Given the description of an element on the screen output the (x, y) to click on. 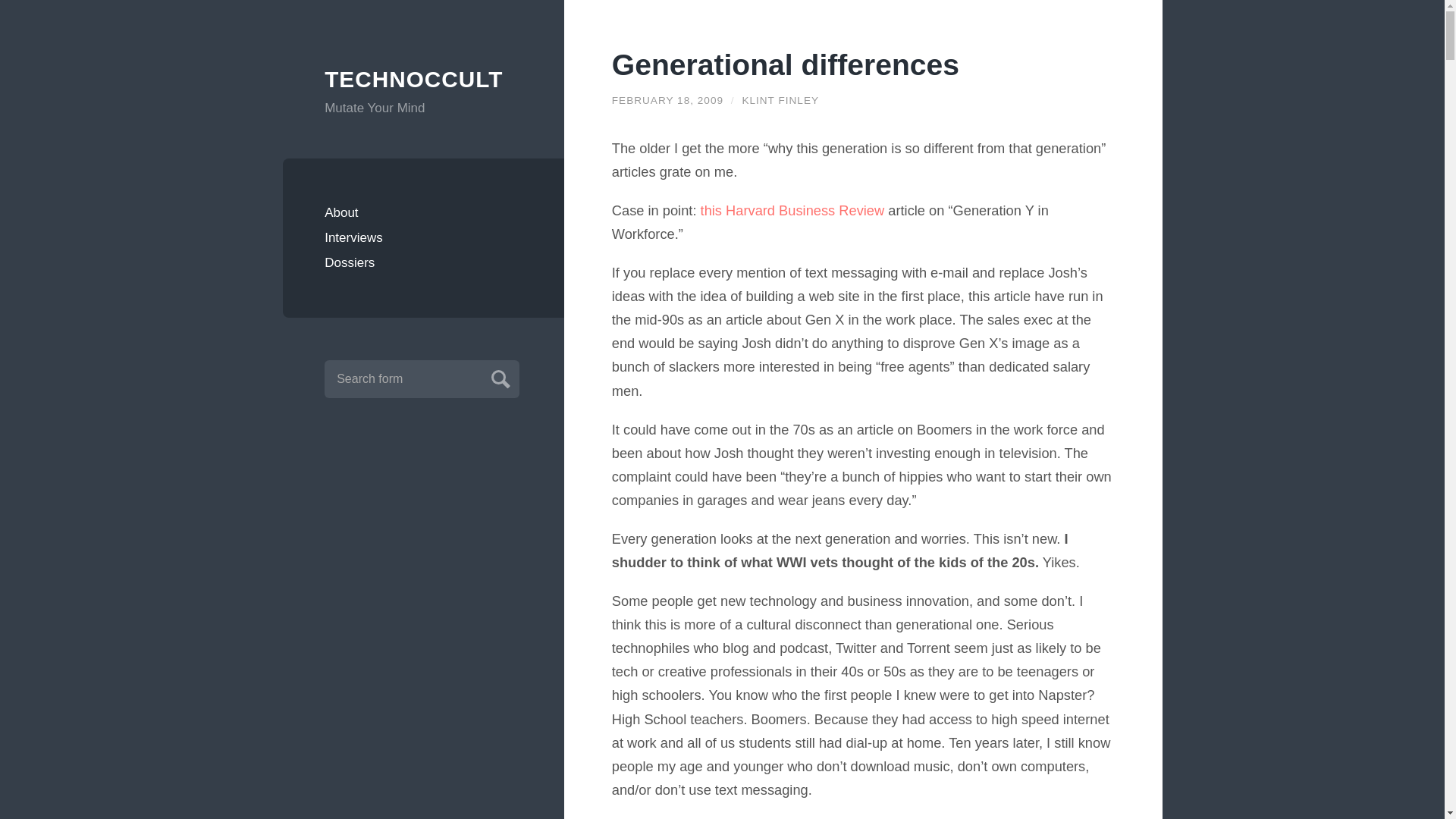
Generational differences (785, 64)
this Harvard Business Review (792, 210)
About (422, 212)
Interviews (422, 237)
Search (498, 377)
KLINT FINLEY (779, 100)
Generational differences (667, 100)
Submit (498, 377)
FEBRUARY 18, 2009 (667, 100)
Generational differences (785, 64)
TECHNOCCULT (422, 79)
Posts by Klint Finley (779, 100)
Dossiers (422, 262)
